Given the description of an element on the screen output the (x, y) to click on. 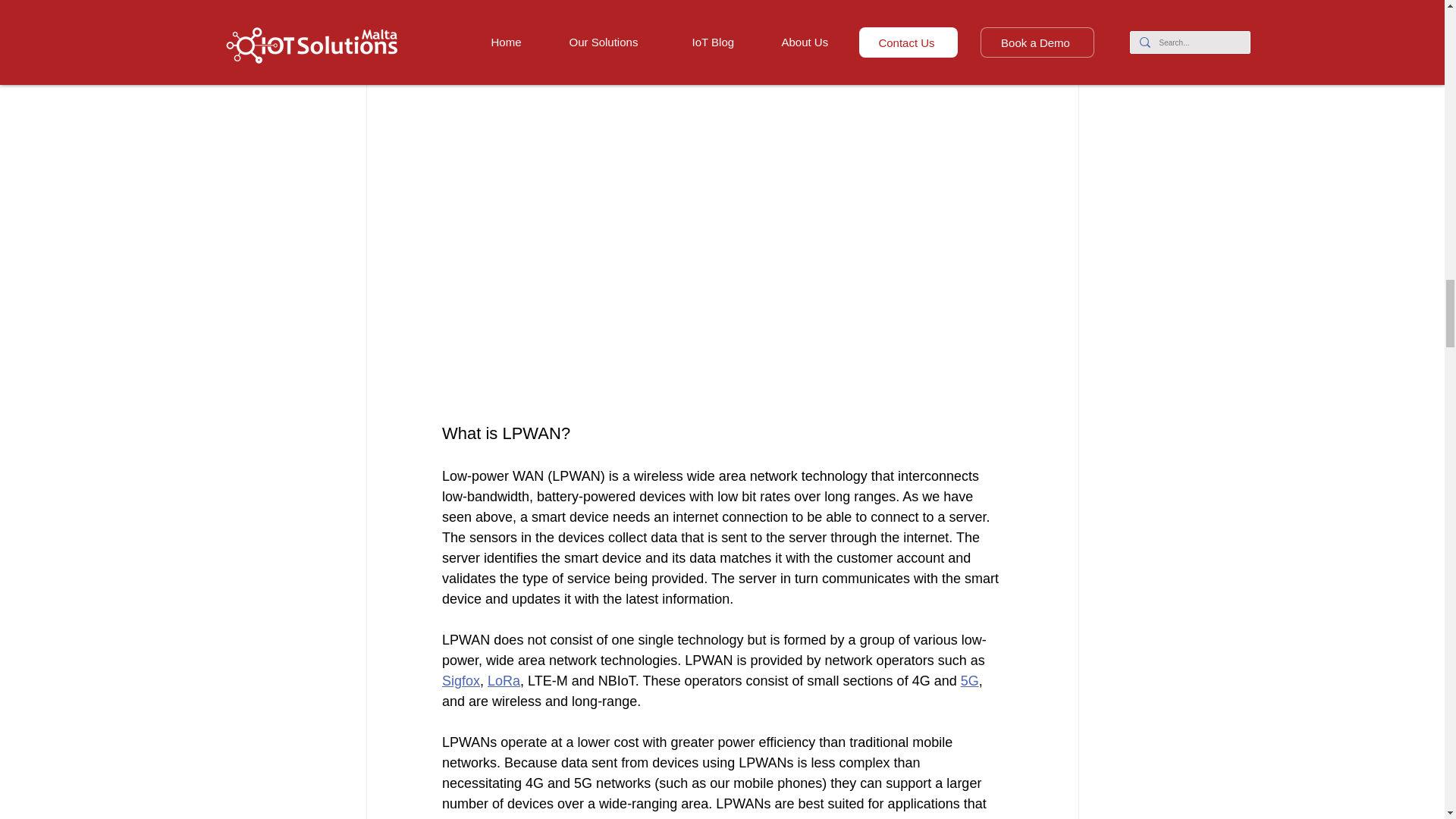
LoRa (503, 680)
5G (968, 680)
Sigfox (460, 680)
